Given the description of an element on the screen output the (x, y) to click on. 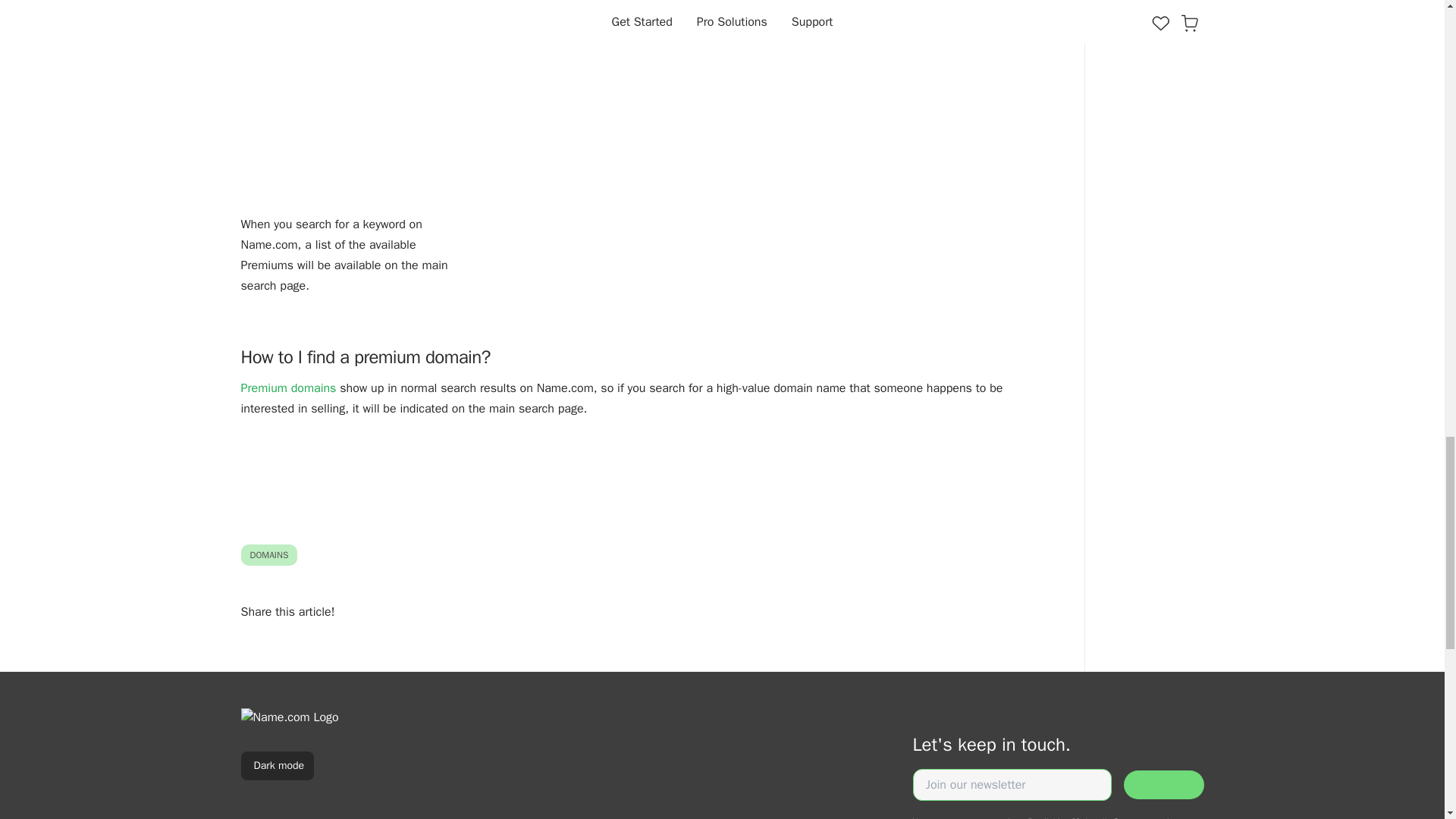
DOMAINS (269, 554)
Subscribe (1164, 784)
Premium domains (288, 387)
